Given the description of an element on the screen output the (x, y) to click on. 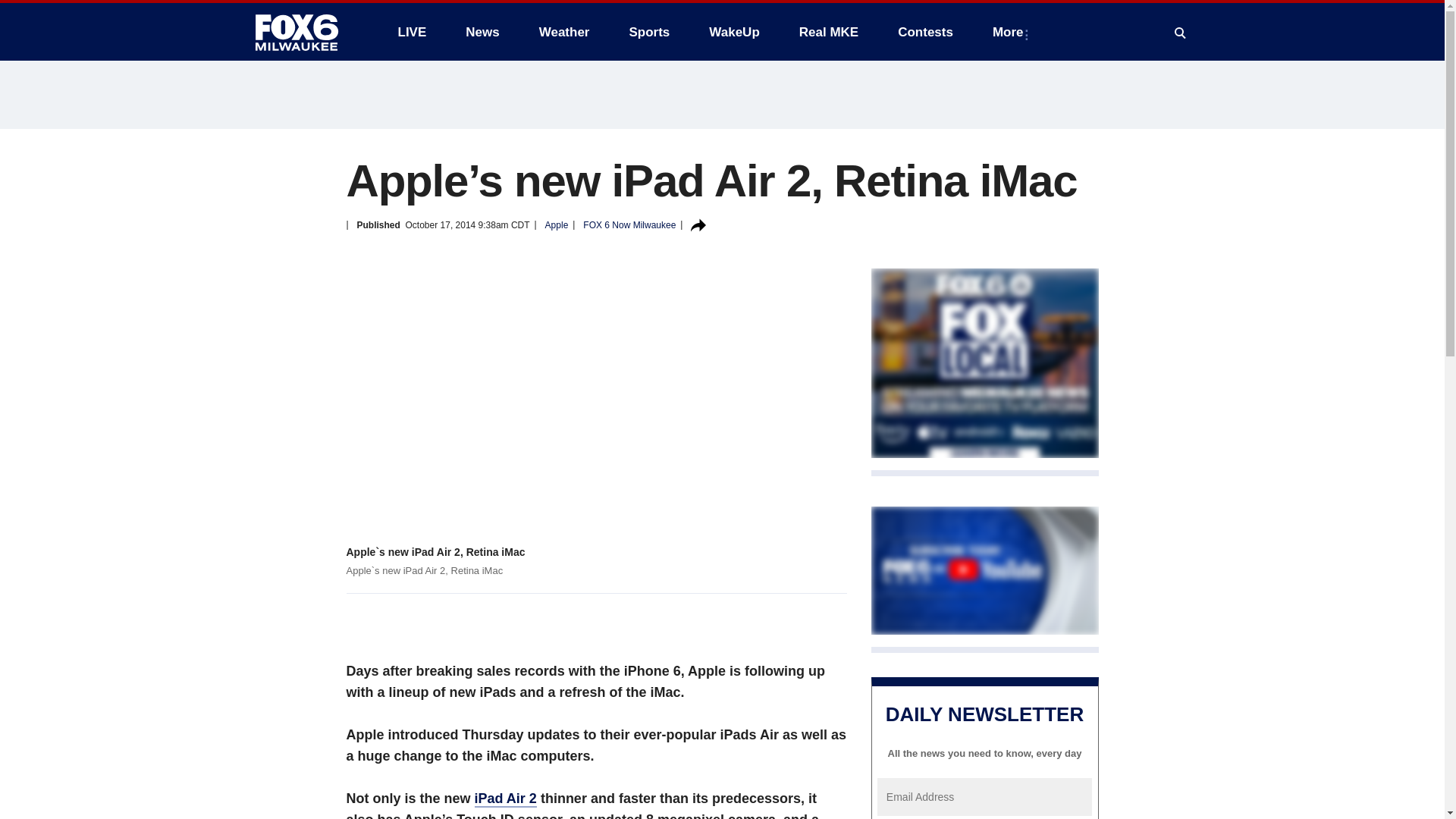
News (481, 32)
WakeUp (734, 32)
Sports (648, 32)
More (1010, 32)
Weather (564, 32)
Contests (925, 32)
LIVE (411, 32)
Real MKE (828, 32)
